Given the description of an element on the screen output the (x, y) to click on. 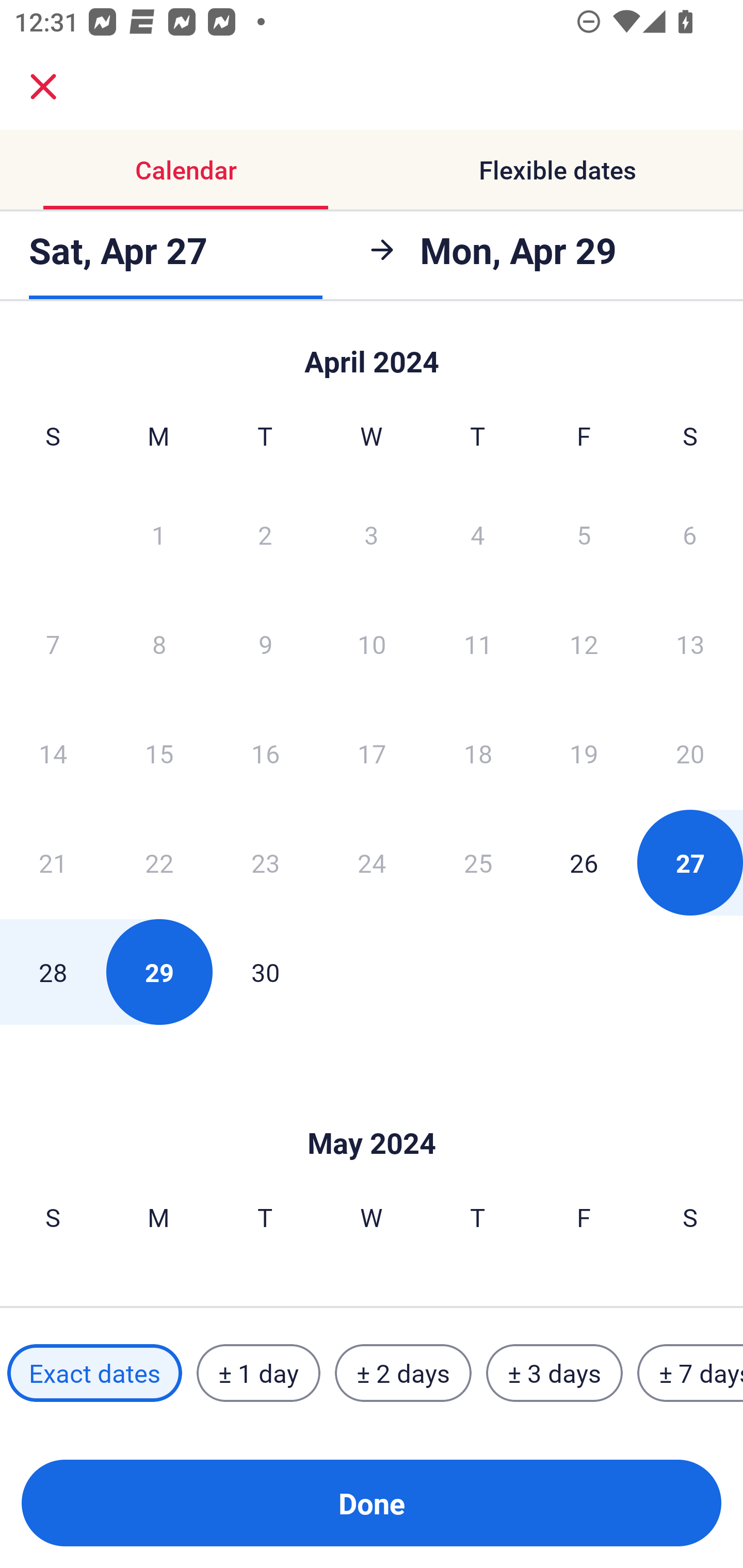
close. (43, 86)
Flexible dates (557, 170)
Skip to Done (371, 352)
1 Monday, April 1, 2024 (158, 534)
2 Tuesday, April 2, 2024 (264, 534)
3 Wednesday, April 3, 2024 (371, 534)
4 Thursday, April 4, 2024 (477, 534)
5 Friday, April 5, 2024 (583, 534)
6 Saturday, April 6, 2024 (689, 534)
7 Sunday, April 7, 2024 (53, 643)
8 Monday, April 8, 2024 (159, 643)
9 Tuesday, April 9, 2024 (265, 643)
10 Wednesday, April 10, 2024 (371, 643)
11 Thursday, April 11, 2024 (477, 643)
12 Friday, April 12, 2024 (584, 643)
13 Saturday, April 13, 2024 (690, 643)
14 Sunday, April 14, 2024 (53, 752)
15 Monday, April 15, 2024 (159, 752)
16 Tuesday, April 16, 2024 (265, 752)
17 Wednesday, April 17, 2024 (371, 752)
18 Thursday, April 18, 2024 (477, 752)
19 Friday, April 19, 2024 (584, 752)
20 Saturday, April 20, 2024 (690, 752)
21 Sunday, April 21, 2024 (53, 862)
22 Monday, April 22, 2024 (159, 862)
23 Tuesday, April 23, 2024 (265, 862)
24 Wednesday, April 24, 2024 (371, 862)
25 Thursday, April 25, 2024 (477, 862)
26 Friday, April 26, 2024 (584, 862)
30 Tuesday, April 30, 2024 (265, 971)
Skip to Done (371, 1112)
Exact dates (94, 1372)
± 1 day (258, 1372)
± 2 days (403, 1372)
± 3 days (553, 1372)
± 7 days (690, 1372)
Done (371, 1502)
